Given the description of an element on the screen output the (x, y) to click on. 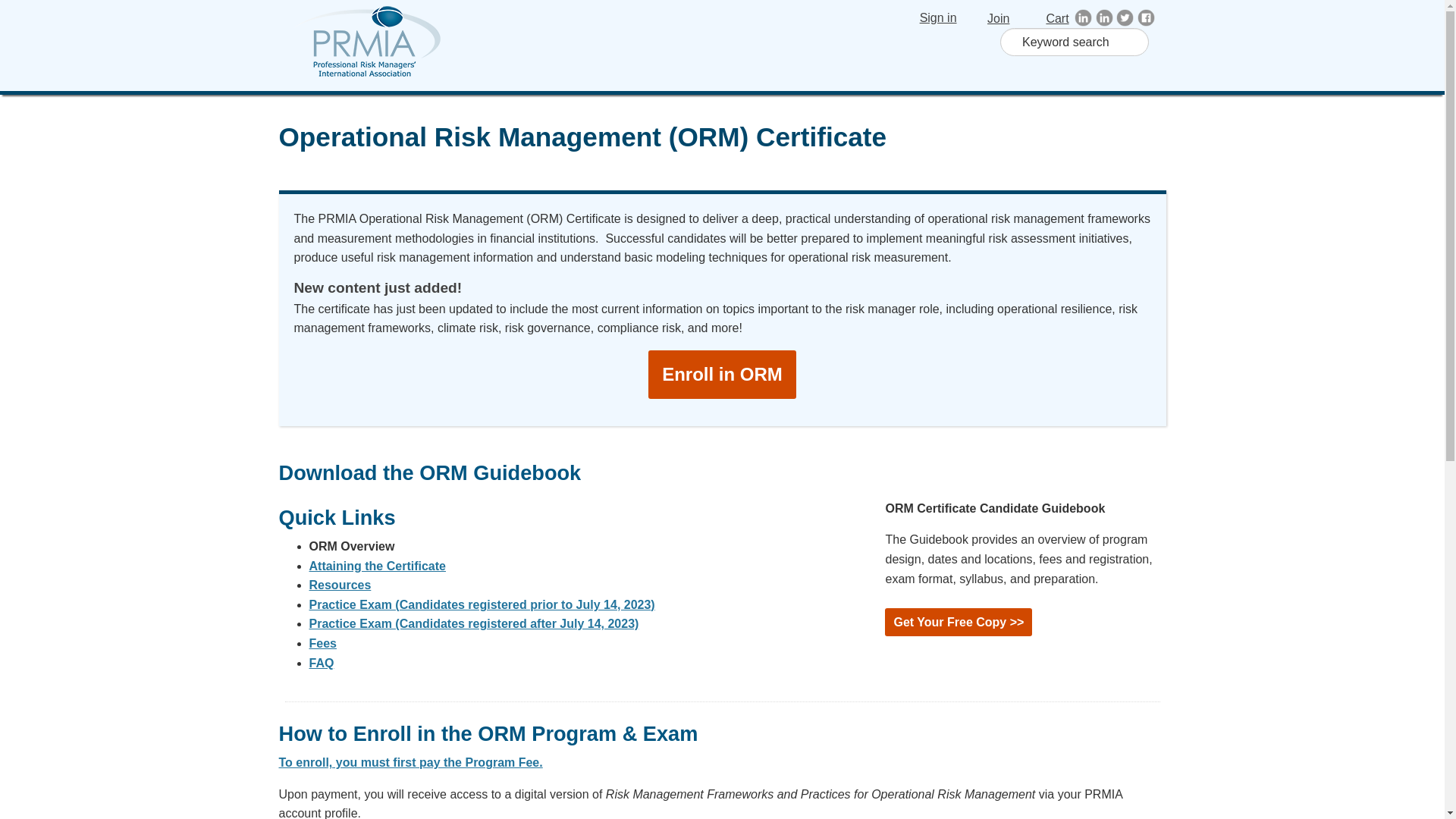
To enroll, you must first pay the Program Fee. (411, 762)
Cart (1047, 18)
Keyword search (1074, 41)
FAQ (321, 662)
Join (988, 18)
Sign in (938, 17)
Attaining the Certificate (376, 565)
Fees (322, 643)
Resources (339, 584)
Keyword search (1074, 41)
